Given the description of an element on the screen output the (x, y) to click on. 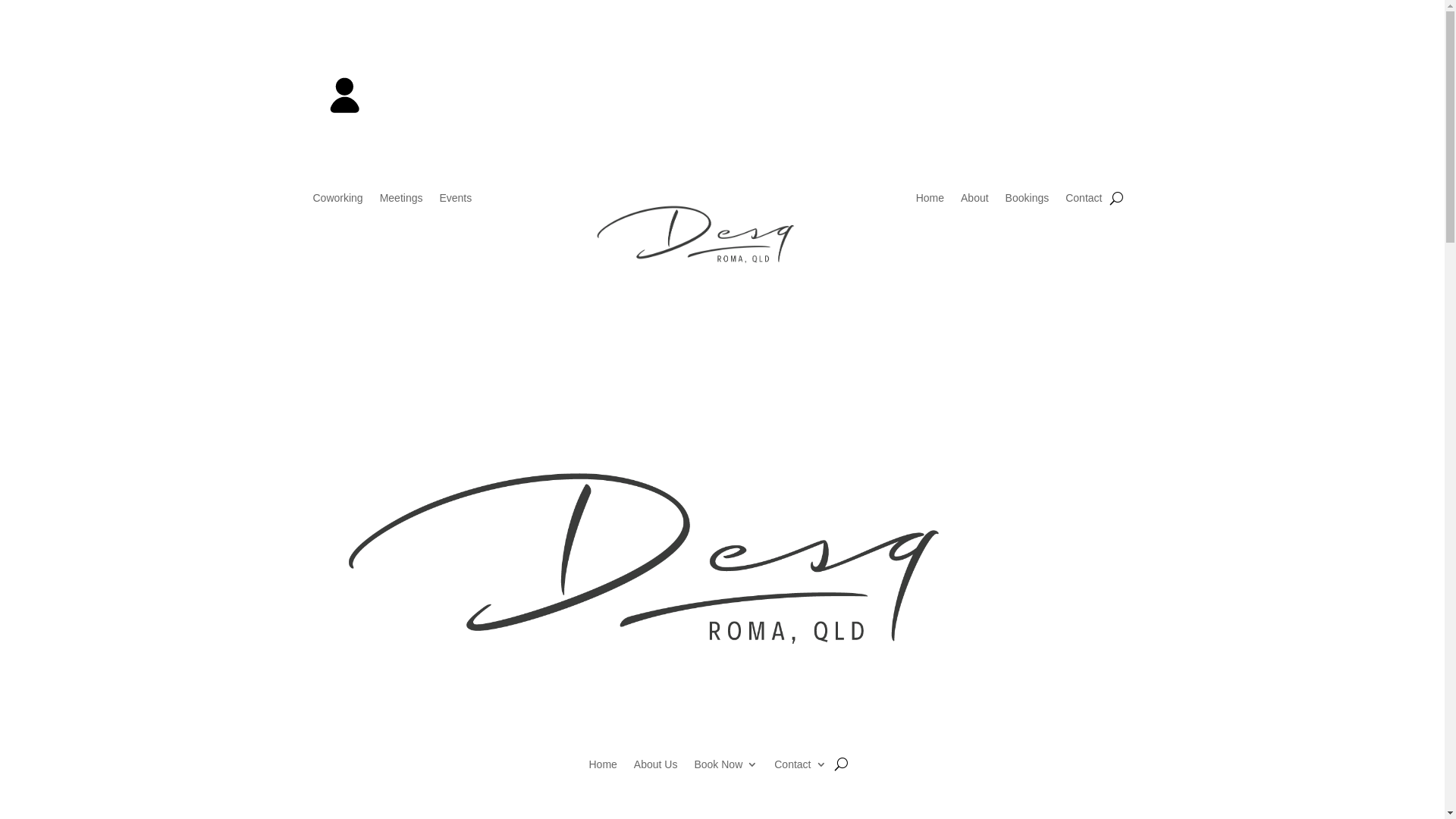
coworking-meetings-events-roma-qld-desq-logo Element type: hover (721, 238)
Book Now Element type: text (725, 767)
Contact Element type: text (1083, 200)
Events Element type: text (455, 200)
coworking-meetings-events-login Element type: hover (344, 93)
Home Element type: text (930, 200)
Meetings Element type: text (401, 200)
Coworking Element type: text (337, 200)
About Us Element type: text (655, 767)
Home Element type: text (602, 767)
Contact Element type: text (799, 767)
Bookings Element type: text (1027, 200)
About Element type: text (974, 200)
coworking-meetings-events-roma-qld-desq-logo Element type: hover (721, 572)
